Given the description of an element on the screen output the (x, y) to click on. 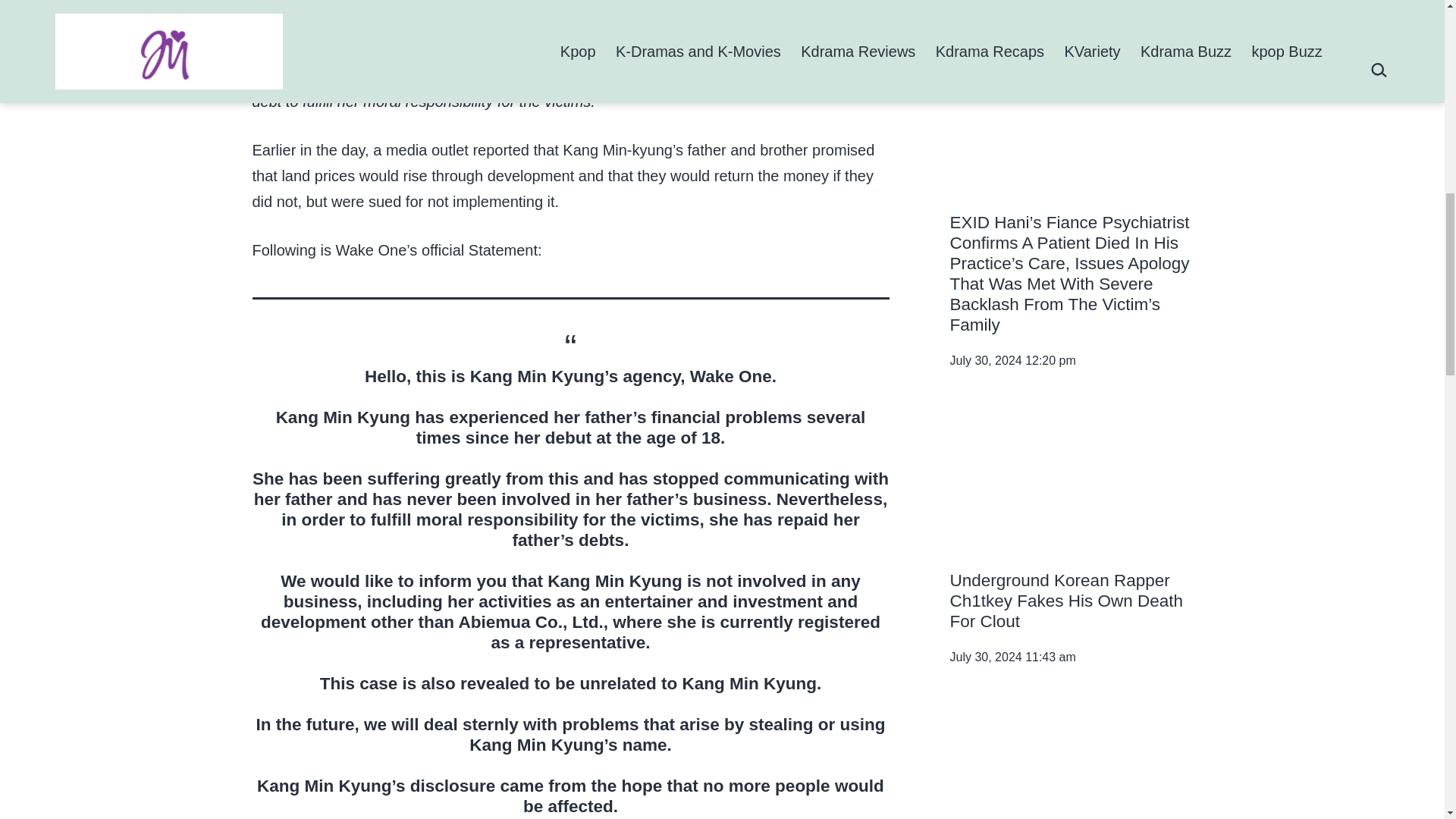
EXID Hanis Fiance Psychiatrist (1070, 122)
sakura (1070, 765)
Ch1tkey (1070, 480)
